Given the description of an element on the screen output the (x, y) to click on. 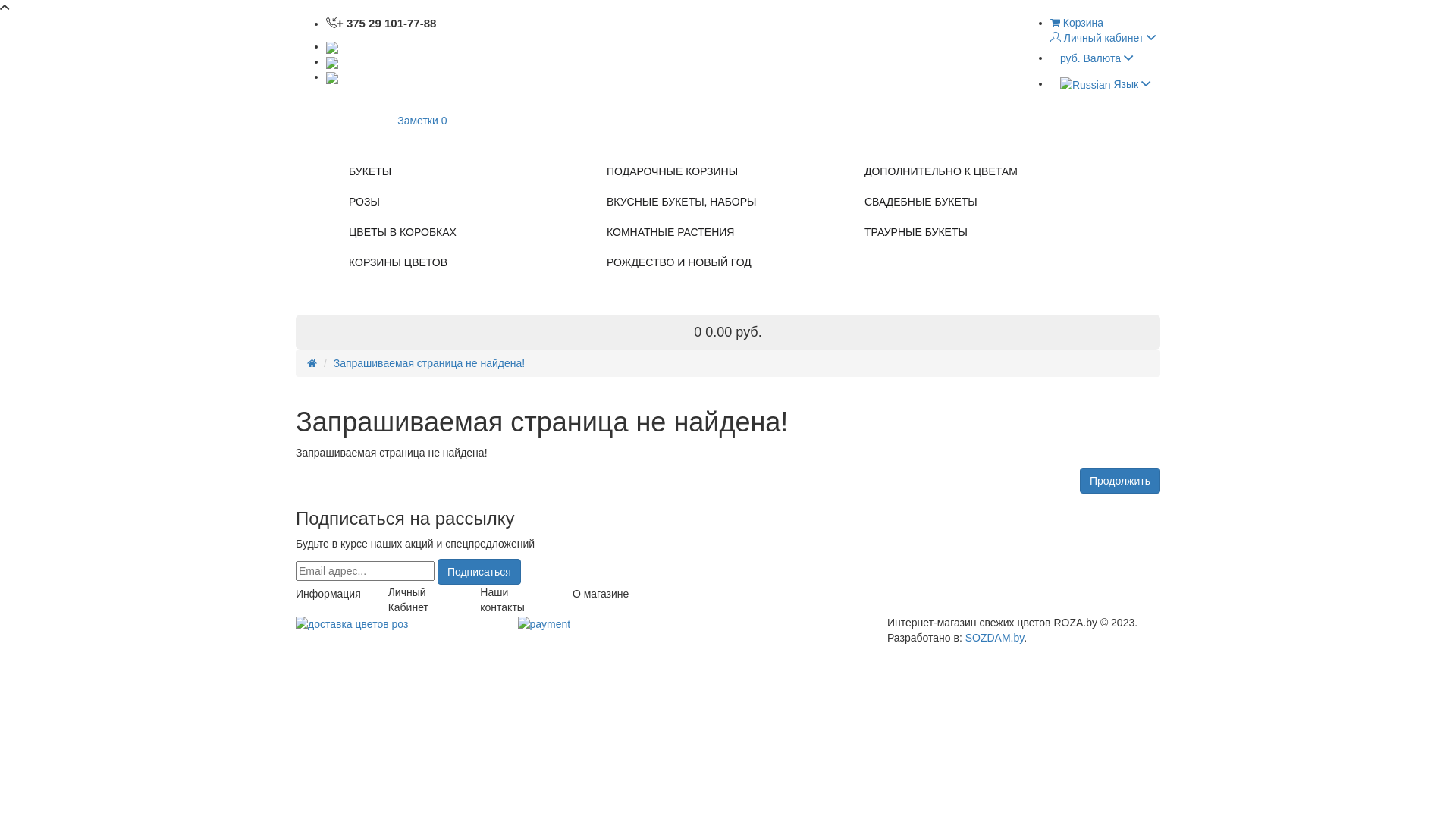
Russian Element type: hover (1085, 84)
SOZDAM.by Element type: text (994, 637)
